Given the description of an element on the screen output the (x, y) to click on. 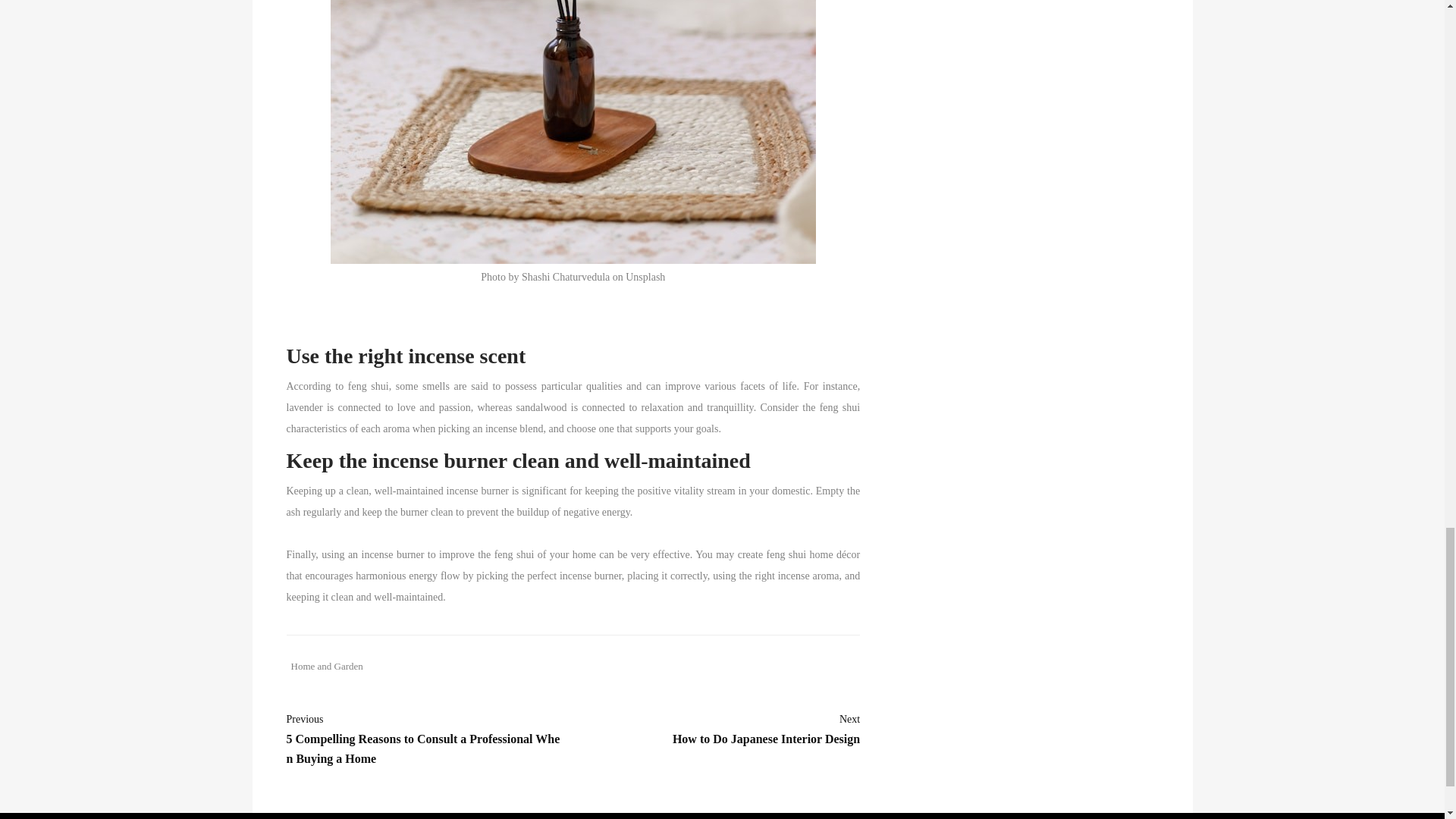
Home and Garden (766, 729)
